Given the description of an element on the screen output the (x, y) to click on. 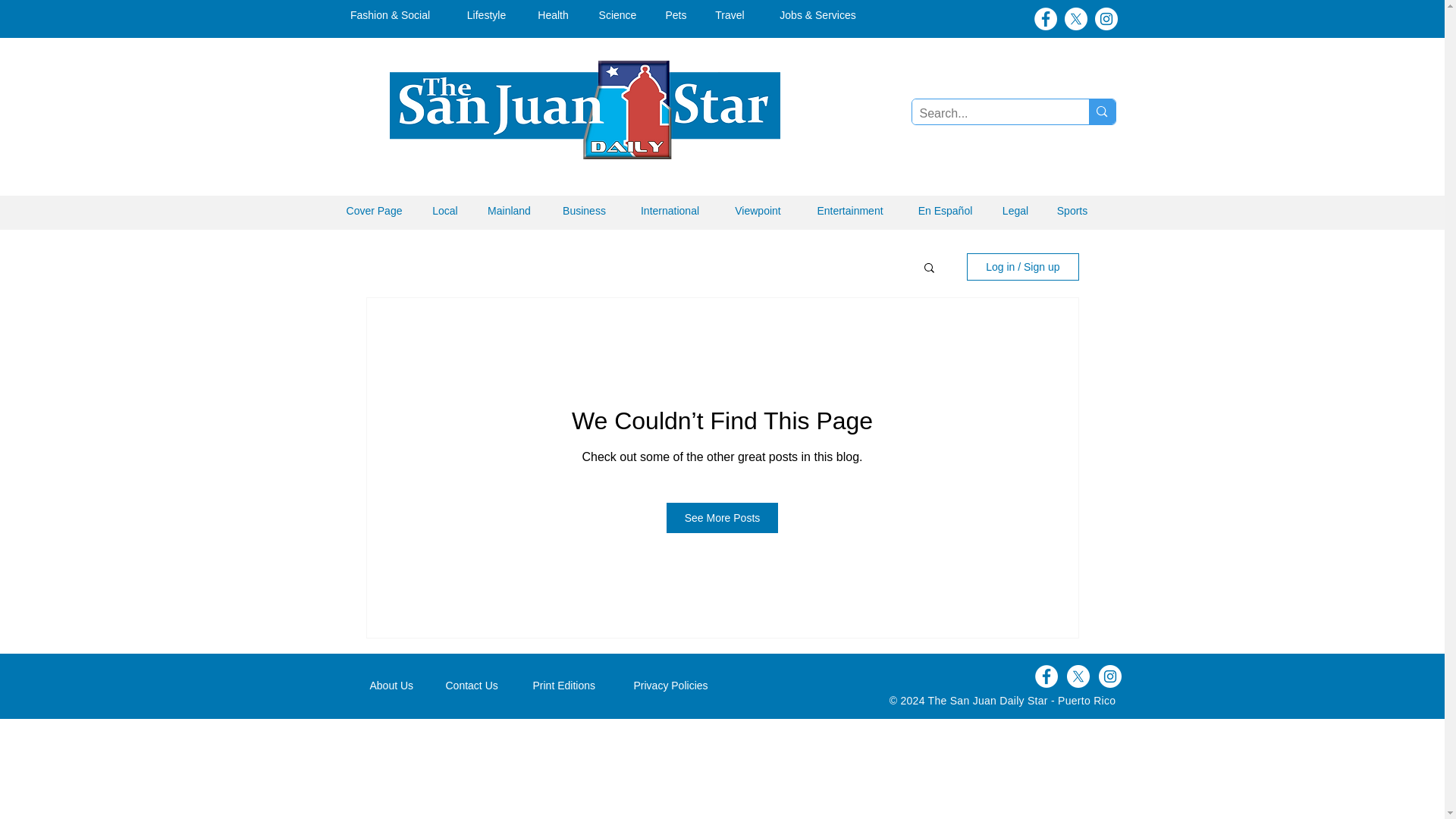
Contact Us (477, 685)
Local (445, 210)
Privacy Policies (679, 685)
Pets (676, 15)
Sports (1072, 210)
Cover Page (374, 210)
Legal (1015, 210)
Mainland (508, 210)
Viewpoint (757, 210)
Science (617, 15)
